Given the description of an element on the screen output the (x, y) to click on. 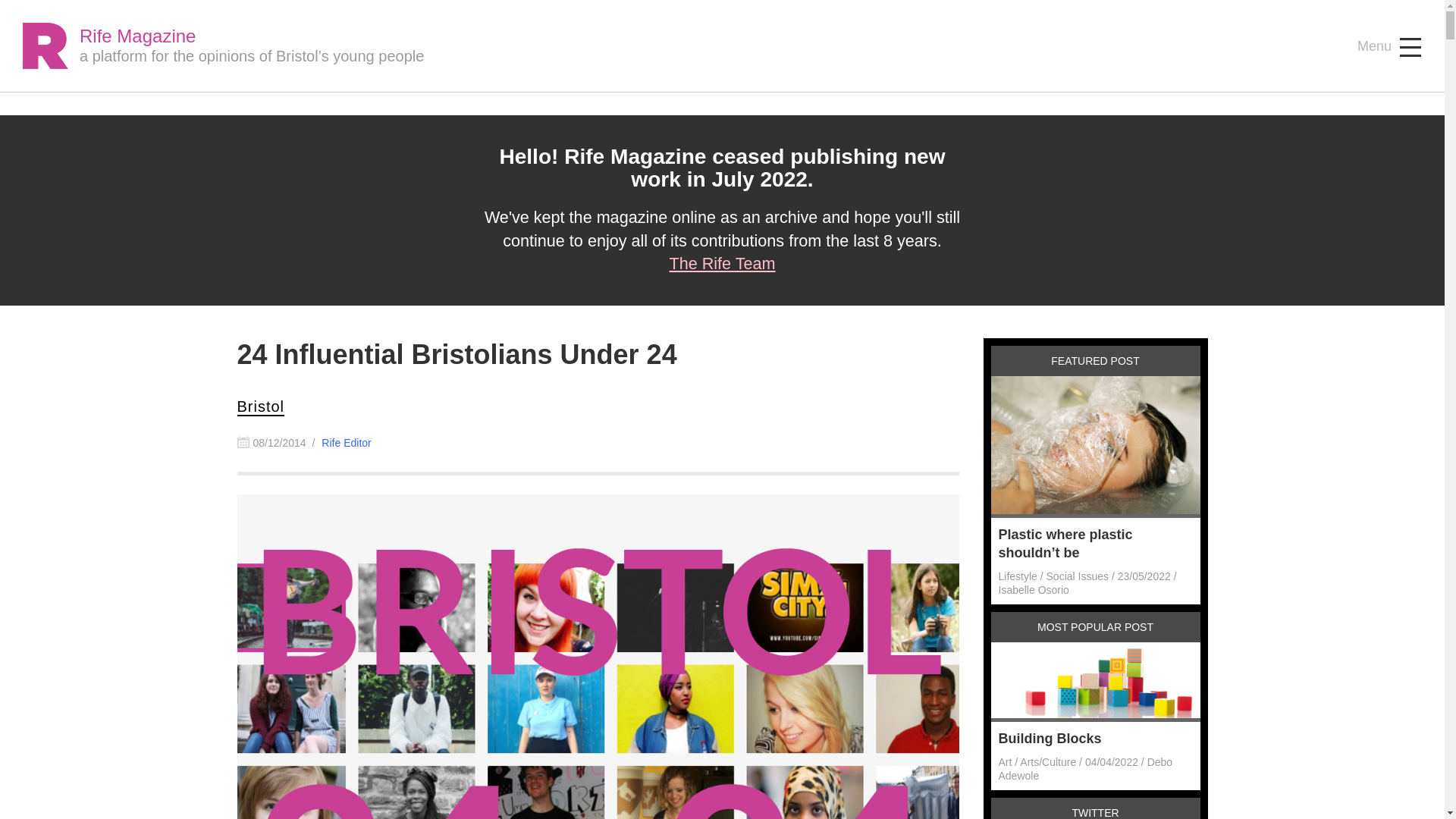
The Rife Team (721, 262)
Bristol (259, 407)
Menu (1389, 46)
